Given the description of an element on the screen output the (x, y) to click on. 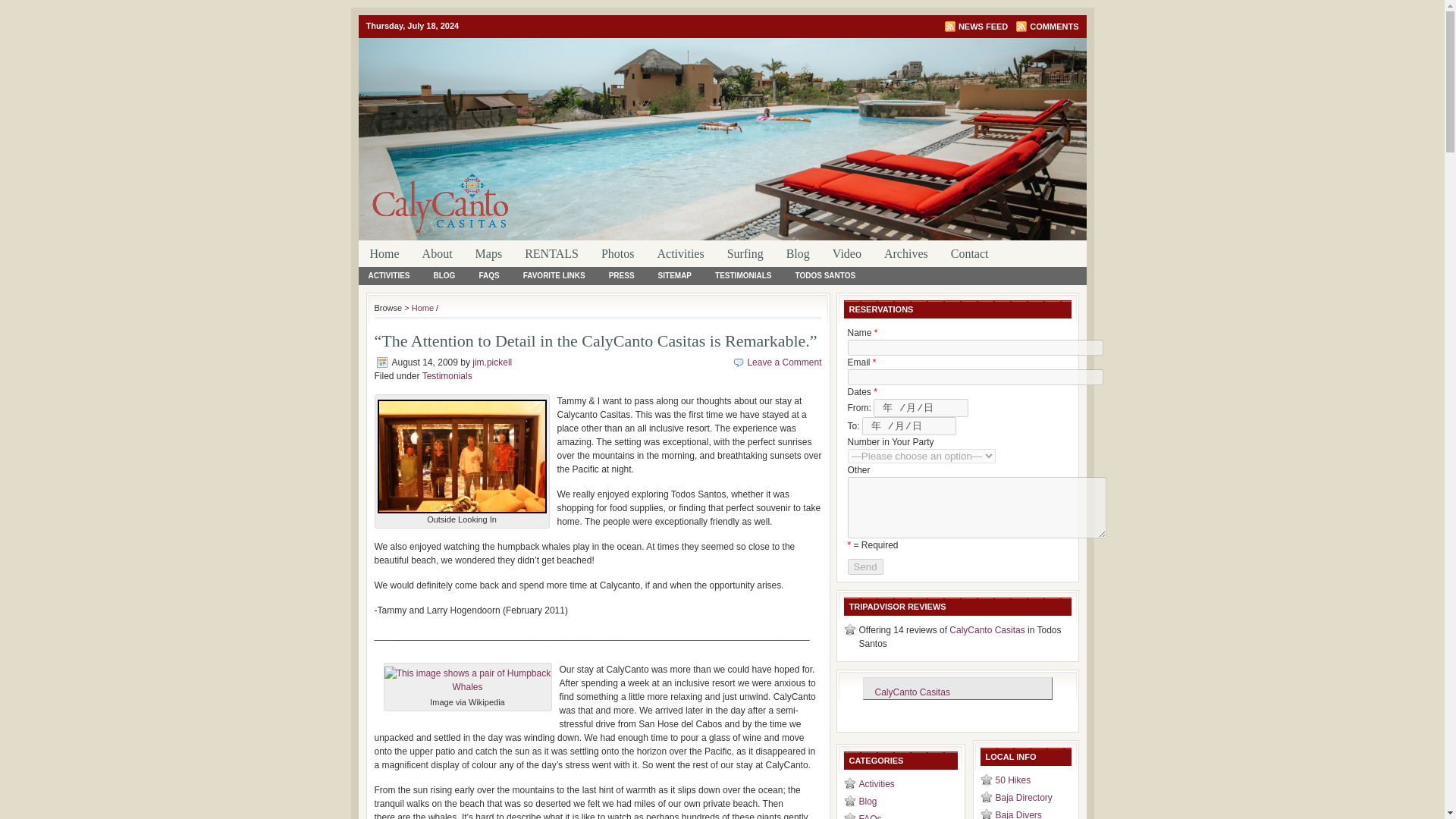
Photos (617, 253)
Pair of Humpback Whales  (467, 679)
Posts by jim.pickell (491, 362)
Activities (679, 253)
RENTALS (551, 253)
Browse to: Home (422, 307)
Home (384, 253)
Maps (488, 253)
About (437, 253)
